Given the description of an element on the screen output the (x, y) to click on. 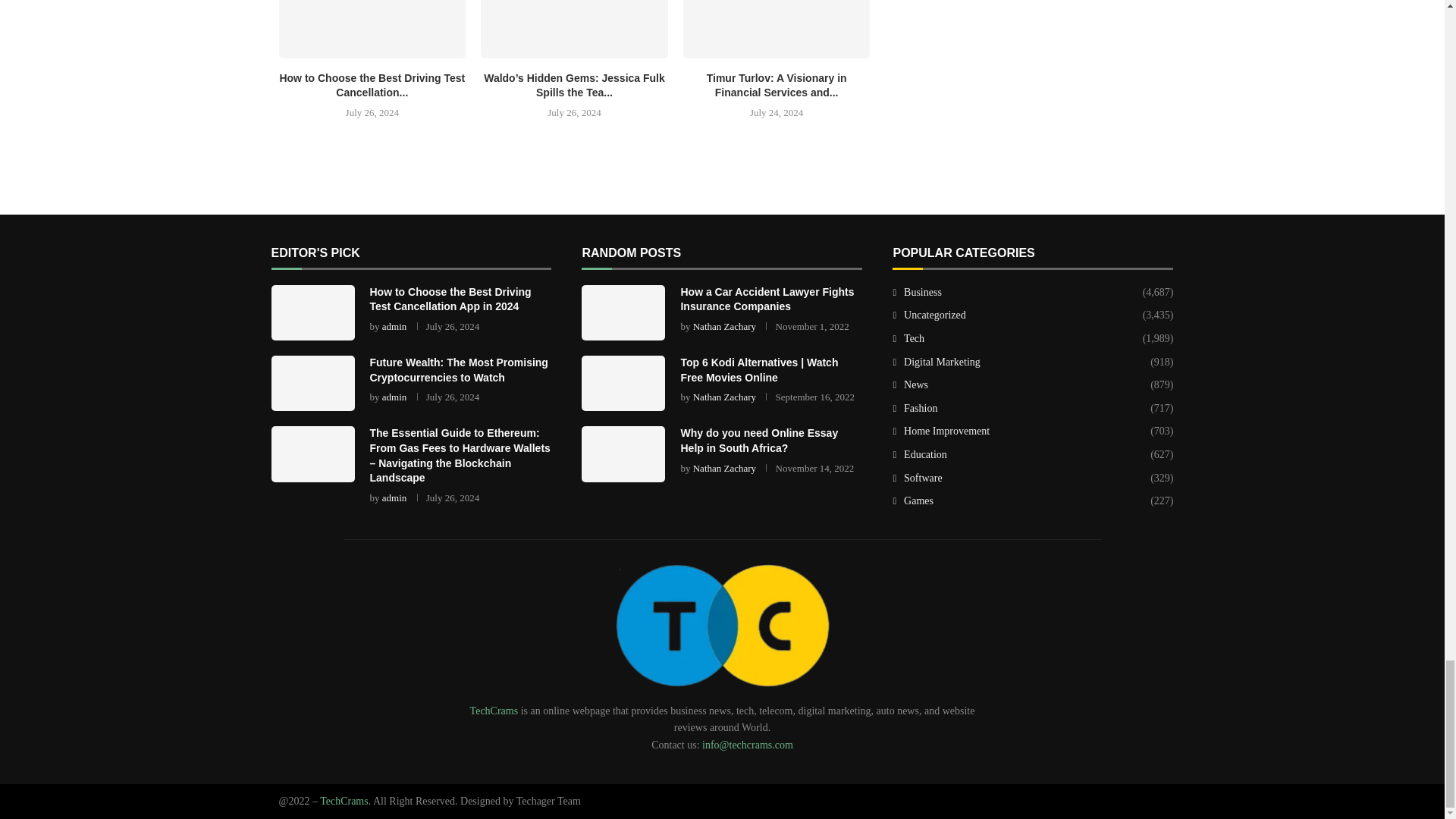
How to Choose the Best Driving Test Cancellation App in 2024 (372, 28)
